Given the description of an element on the screen output the (x, y) to click on. 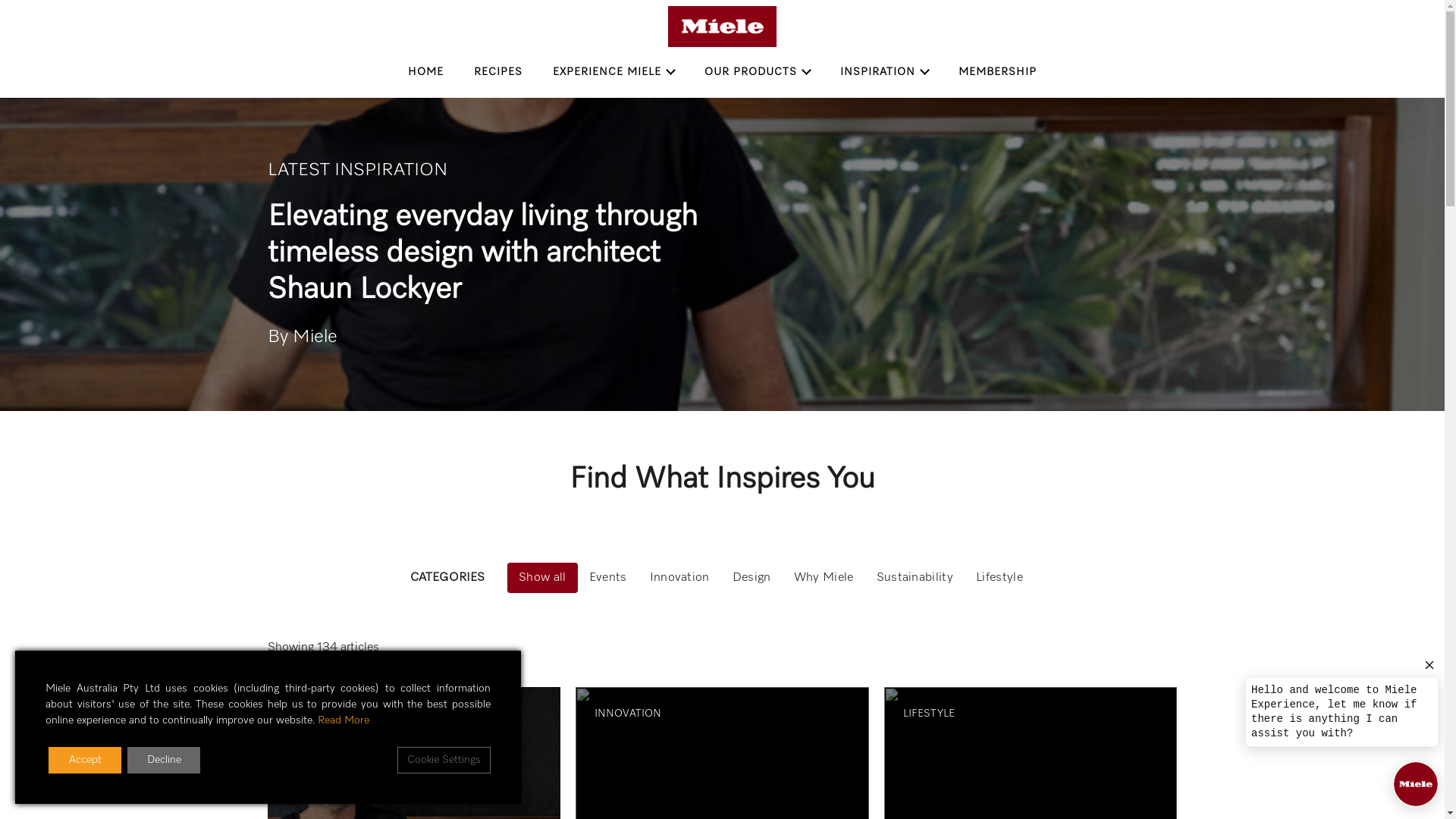
Read More Element type: text (343, 720)
RECIPES Element type: text (497, 71)
Accept Element type: text (84, 759)
INSPIRATION Element type: text (884, 71)
MEMBERSHIP Element type: text (997, 71)
Cookie Settings Element type: text (443, 759)
Submit Element type: text (721, 565)
HOME Element type: text (425, 71)
Decline Element type: text (163, 759)
EXPERIENCE MIELE Element type: text (613, 71)
OUR PRODUCTS Element type: text (756, 71)
